Given the description of an element on the screen output the (x, y) to click on. 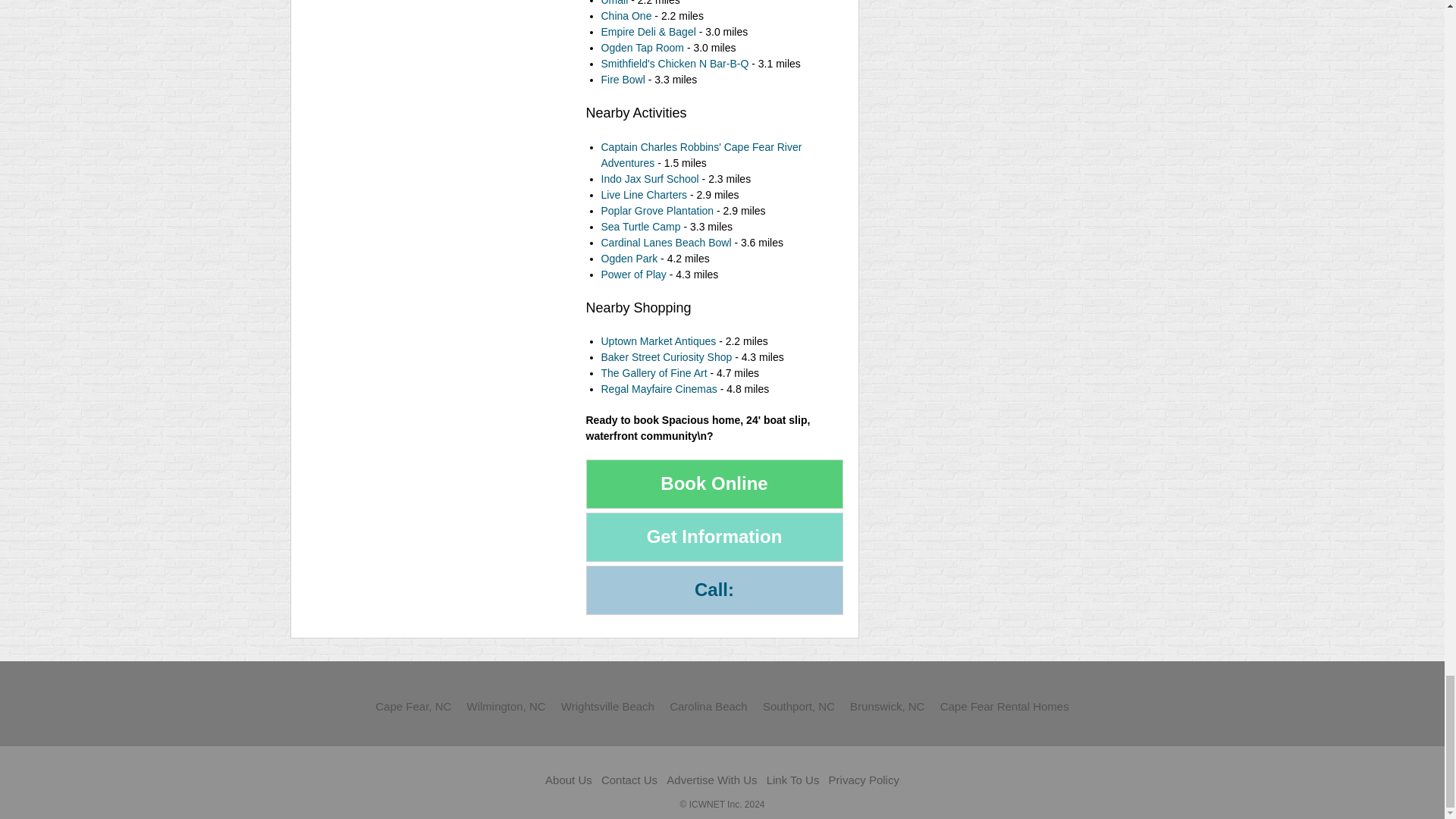
Indo Jax Surf School (648, 178)
Umaii (613, 2)
Ogden Tap Room (642, 47)
China One (624, 15)
Fire Bowl (622, 79)
Captain Charles Robbins' Cape Fear River Adventures (700, 154)
Smithfield's Chicken N Bar-B-Q (675, 63)
